Given the description of an element on the screen output the (x, y) to click on. 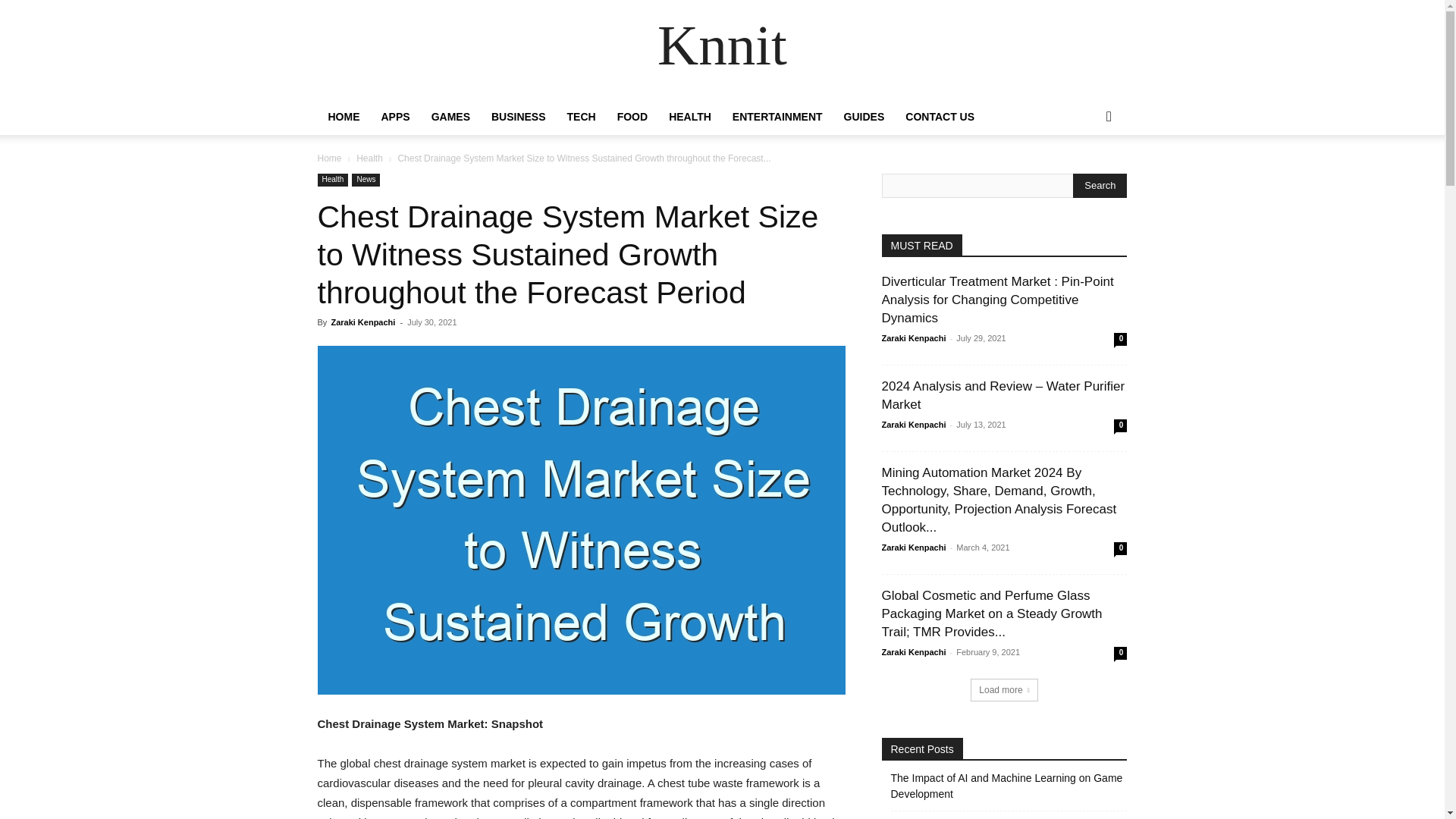
BUSINESS (518, 116)
Search (1099, 185)
FOOD (632, 116)
TECH (581, 116)
APPS (394, 116)
ENTERTAINMENT (777, 116)
View all posts in Health (369, 158)
Home (328, 158)
News (366, 179)
